Given the description of an element on the screen output the (x, y) to click on. 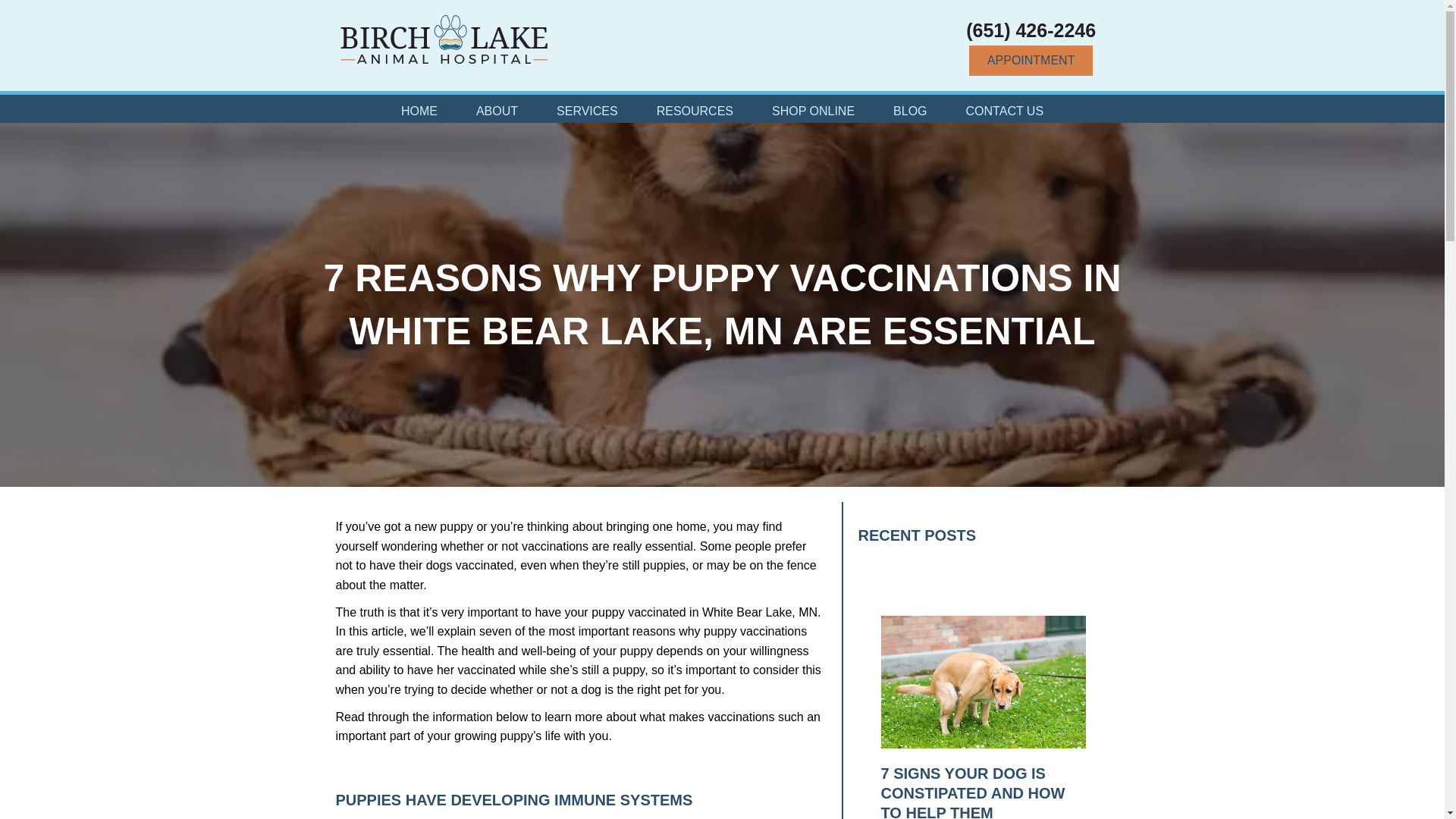
SERVICES (587, 111)
logo (444, 39)
APPOINTMENT (1031, 60)
ABOUT (497, 111)
7 Signs Your Dog is Constipated and How to Help Them (972, 791)
HOME (419, 111)
